Given the description of an element on the screen output the (x, y) to click on. 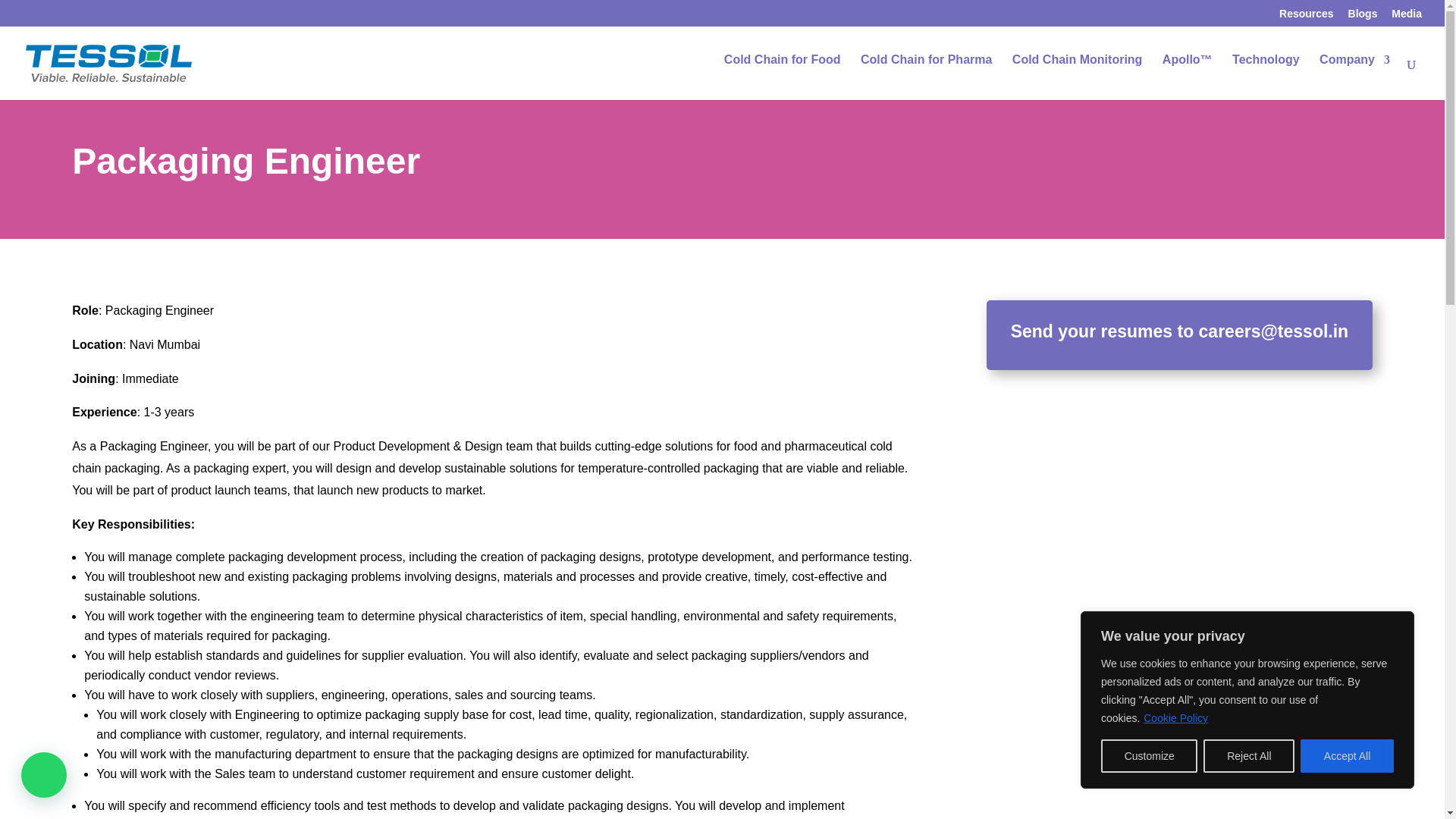
Cold Chain for Food (782, 74)
Resources (1306, 16)
Cookie Policy (1175, 717)
Blogs (1362, 16)
Cold Chain Monitoring (1076, 74)
Reject All (1249, 756)
Accept All (1346, 756)
Cold Chain for Pharma (925, 74)
Customize (1148, 756)
Media (1406, 16)
